Given the description of an element on the screen output the (x, y) to click on. 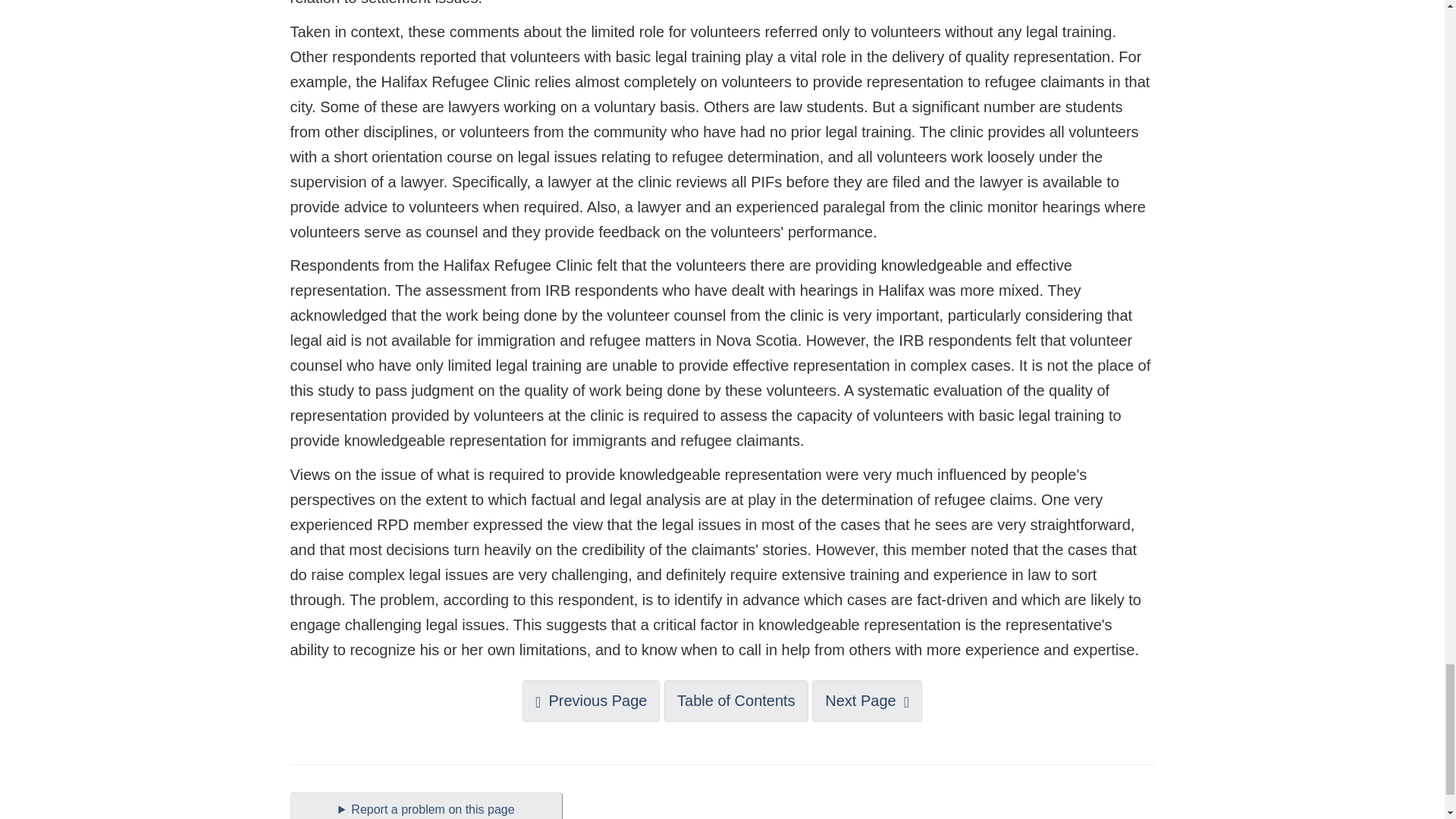
Table of Contents (735, 700)
Next Page (866, 700)
Previous Page (590, 700)
